Given the description of an element on the screen output the (x, y) to click on. 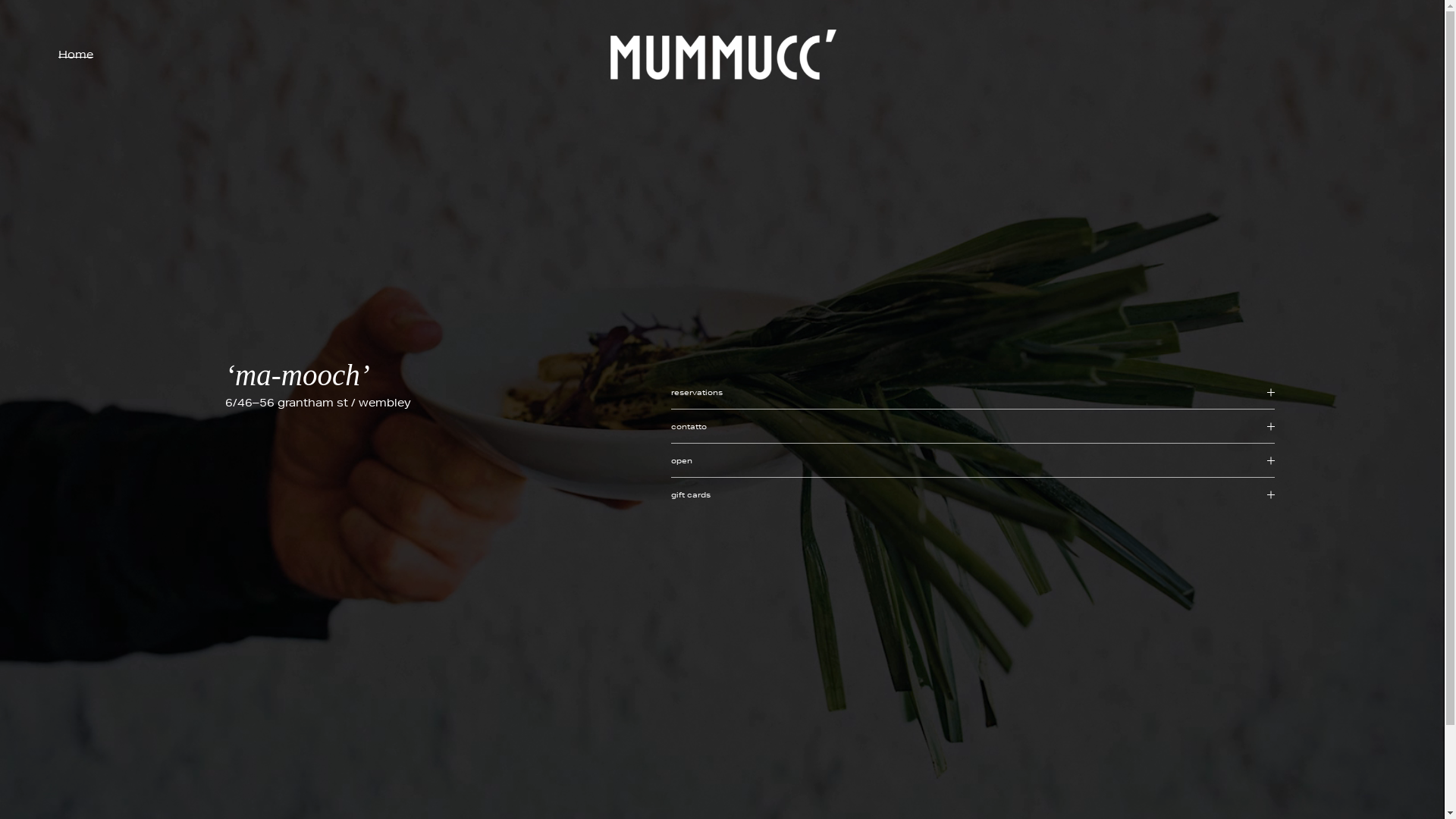
contatto Element type: text (973, 425)
Home Element type: text (75, 54)
reservations Element type: text (973, 391)
gift cards Element type: text (973, 494)
open Element type: text (973, 459)
